Given the description of an element on the screen output the (x, y) to click on. 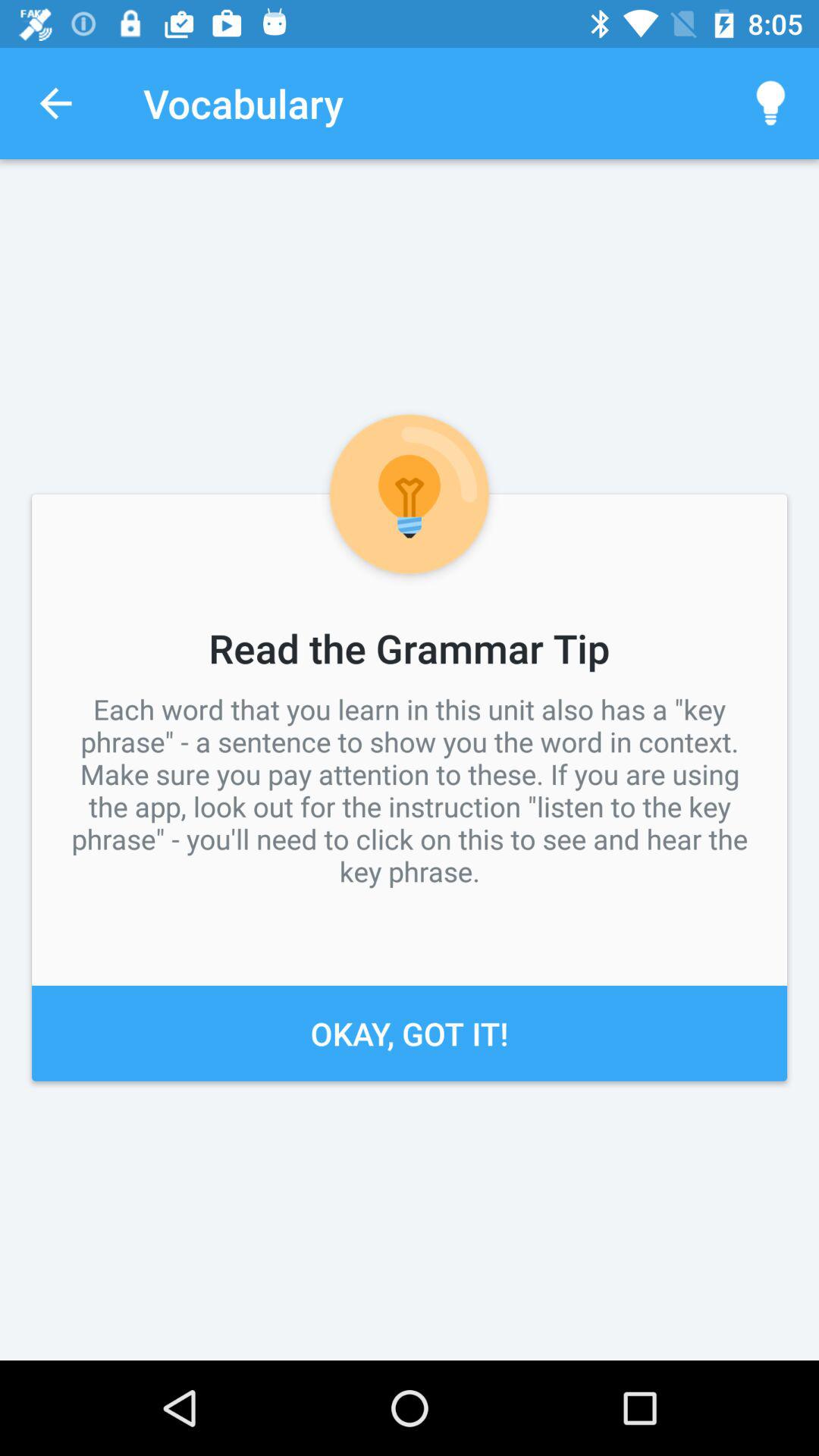
turn off okay, got it! item (409, 1033)
